Given the description of an element on the screen output the (x, y) to click on. 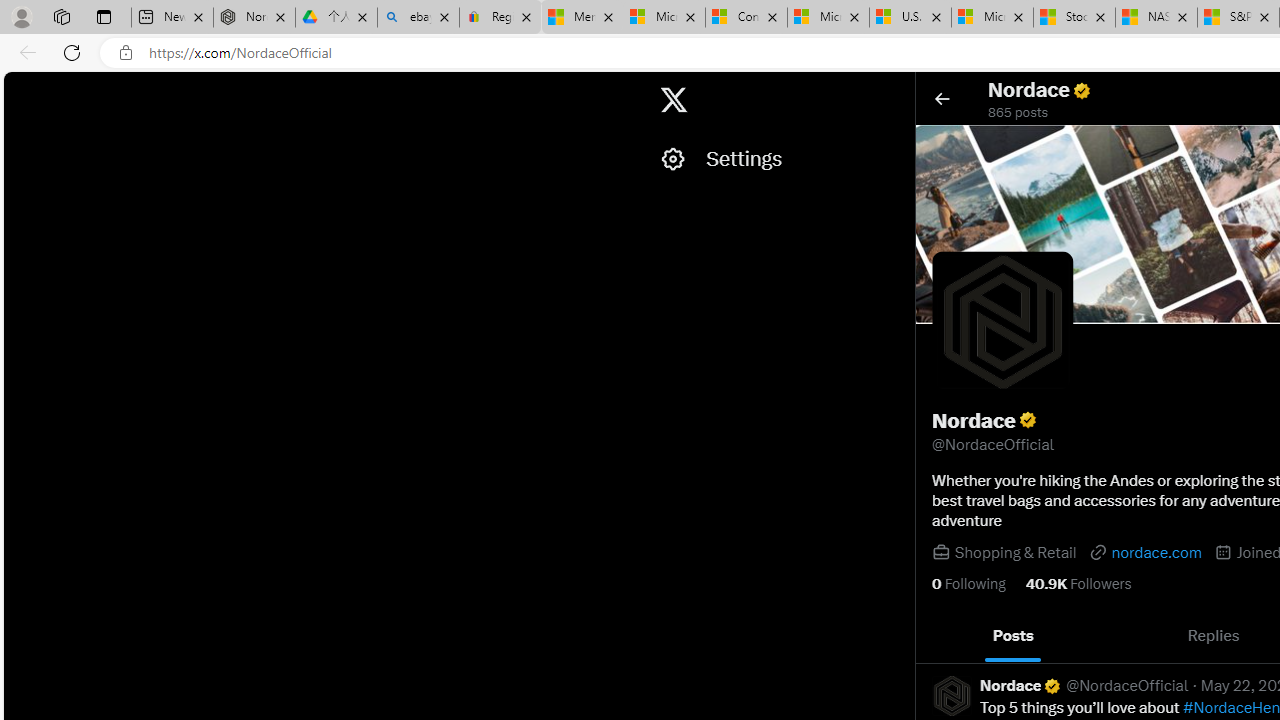
AutomationID: view_24 (543, 17)
Skip to home timeline (21, 90)
Square profile picture and Opens profile photo (1003, 322)
nordace.com (1144, 552)
Square profile picture (952, 695)
40.9K Followers (1078, 583)
Provides details about verified accounts. (1027, 420)
Posts (1013, 636)
Shopping & Retail (1014, 551)
